Given the description of an element on the screen output the (x, y) to click on. 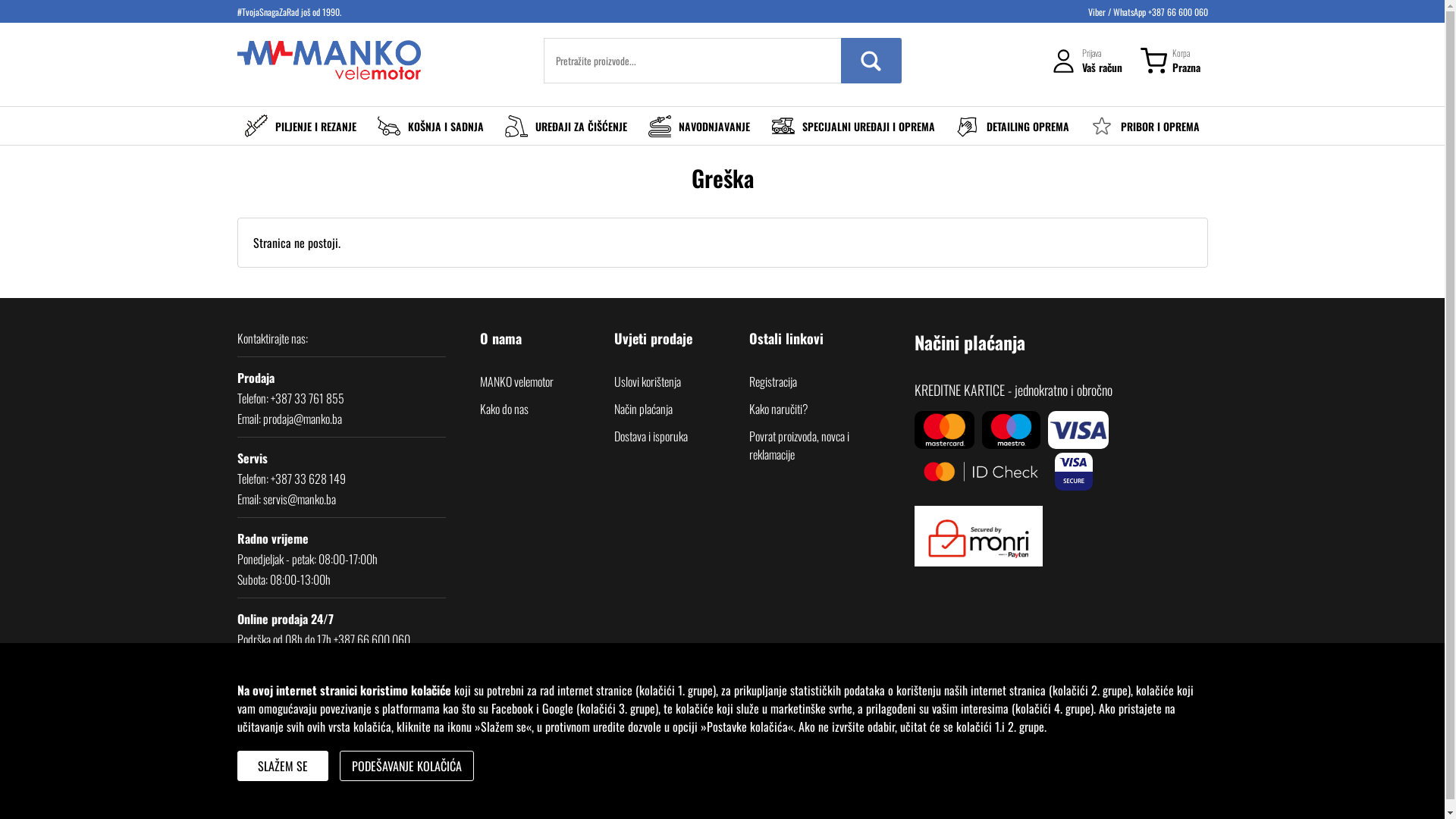
PRIBOR I OPREMA Element type: text (1144, 125)
Kako do nas Element type: text (503, 408)
Registracija Element type: text (773, 381)
Povrat proizvoda, novca i reklamacije Element type: text (816, 444)
DETAILING OPREMA Element type: text (1012, 125)
Dostava i isporuka Element type: text (650, 435)
ID-S Element type: text (308, 801)
Korpa
Prazna Element type: text (1170, 60)
PILJENJE I REZANJE Element type: text (299, 125)
NAVODNJAVANJE Element type: text (698, 125)
MANKO velemotor Element type: text (515, 381)
